Given the description of an element on the screen output the (x, y) to click on. 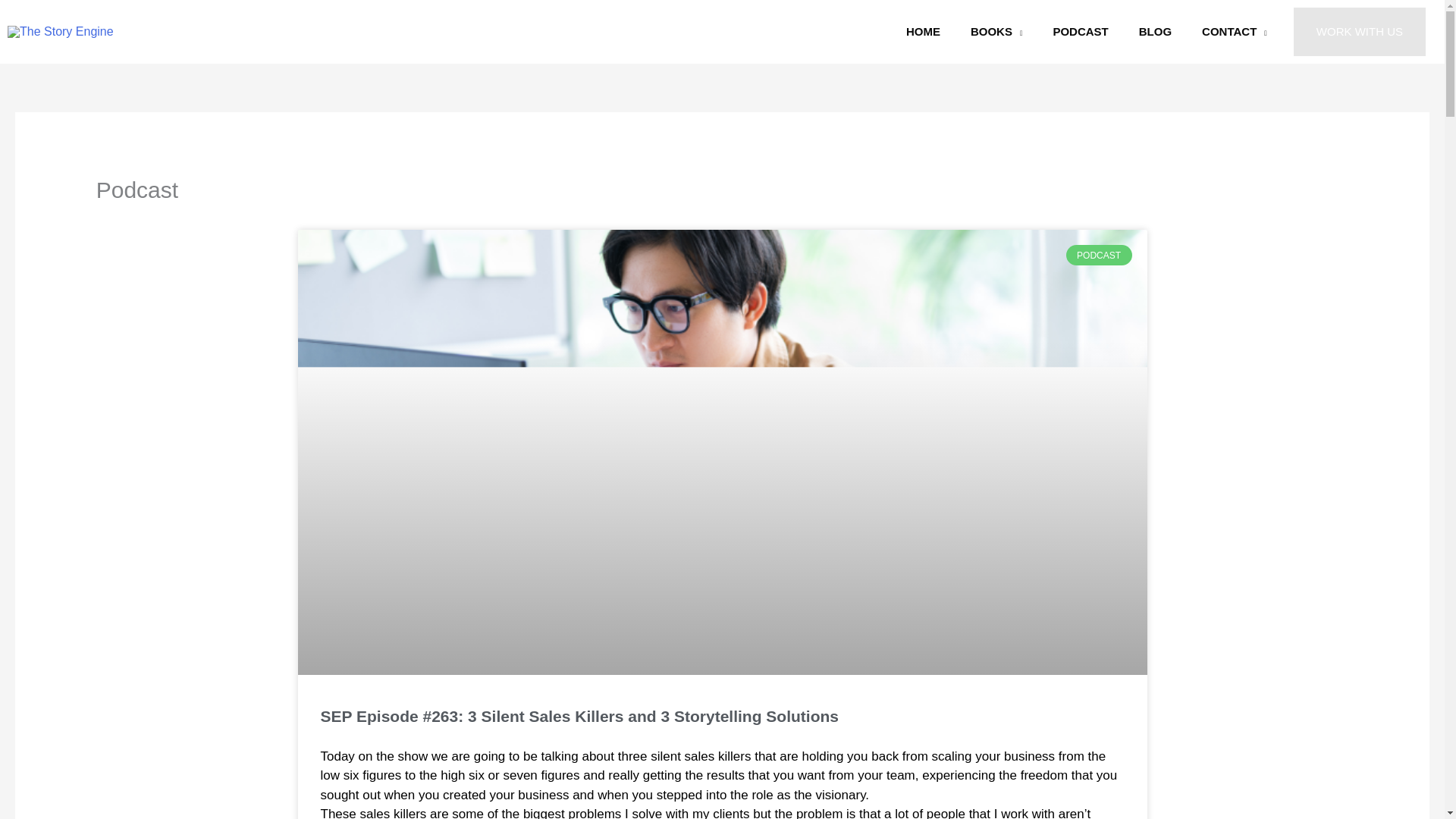
BLOG (1155, 31)
WORK WITH US (1359, 31)
PODCAST (1079, 31)
HOME (923, 31)
BOOKS (996, 31)
CONTACT (1234, 31)
